Given the description of an element on the screen output the (x, y) to click on. 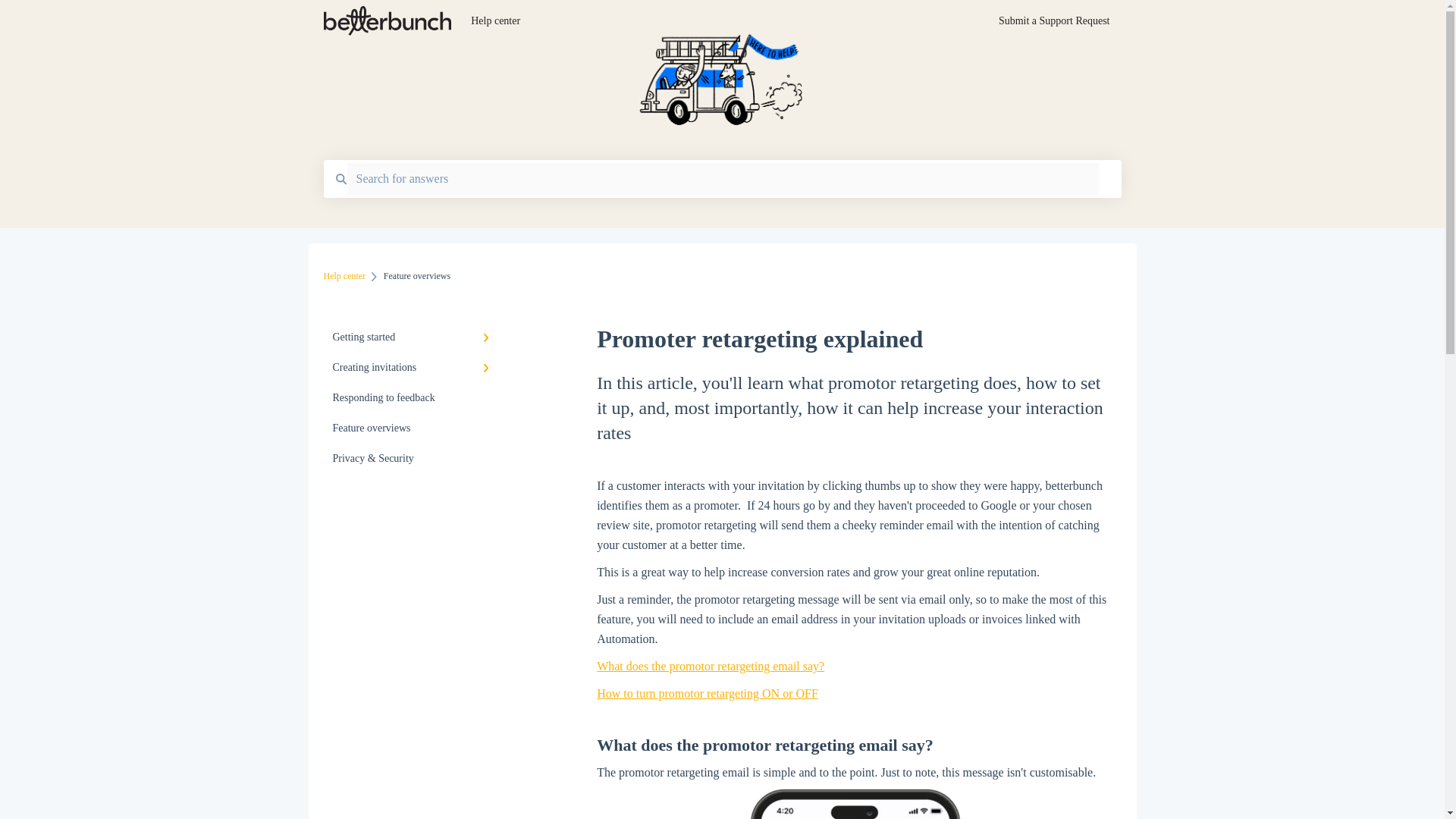
Responding to feedback (414, 398)
What does the promotor retargeting email say? (710, 666)
Feature overviews (414, 428)
Help center (344, 276)
Help center (711, 21)
Creating invitations (414, 367)
How to turn promotor retargeting ON or OFF (707, 693)
Submit a Support Request (1053, 25)
Getting started (414, 337)
